Given the description of an element on the screen output the (x, y) to click on. 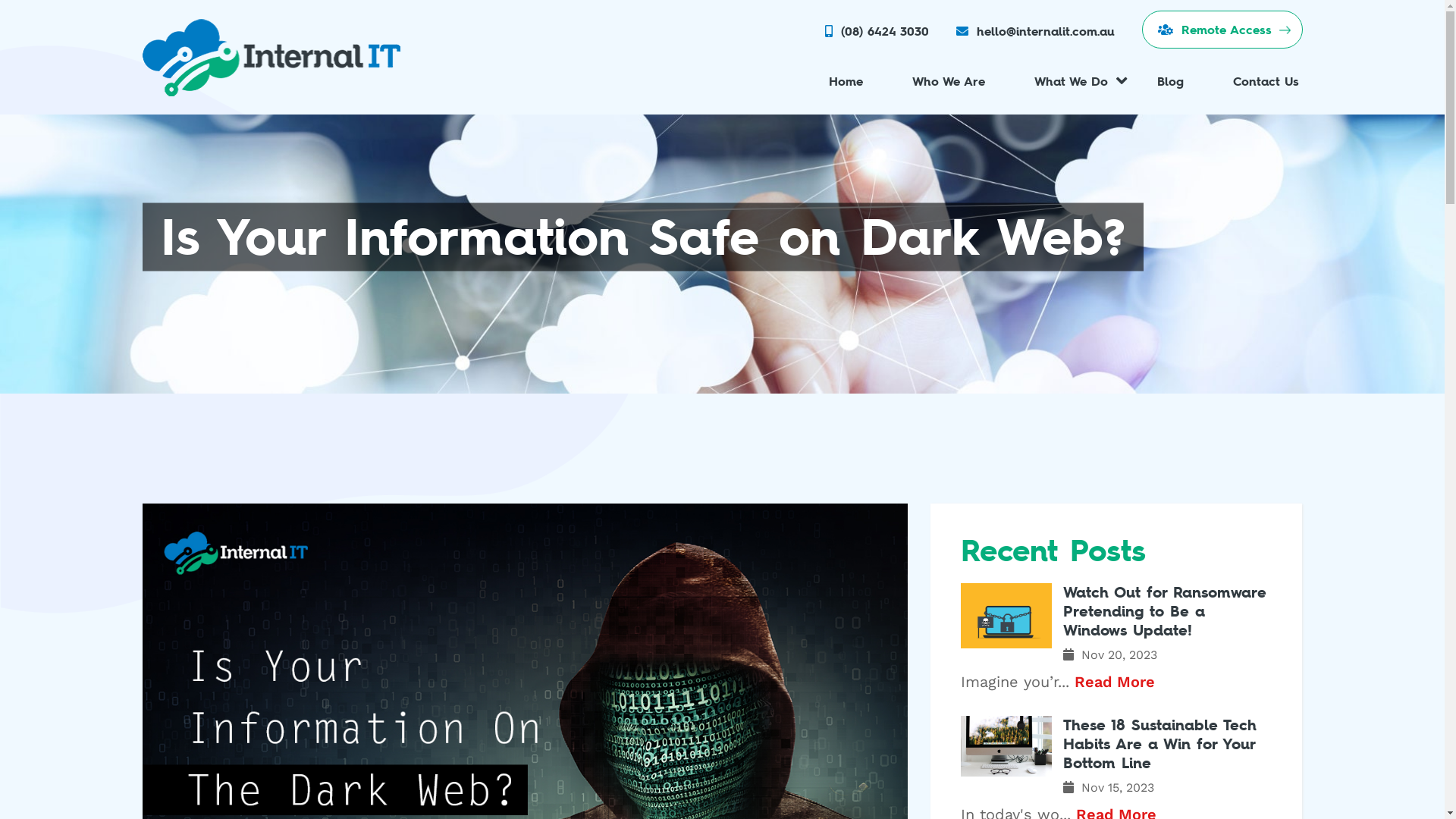
Read More Element type: text (1114, 681)
(08) 6424 3030 Element type: text (884, 30)
Who We Are Element type: text (948, 81)
hello@internalit.com.au Element type: text (1045, 30)
Remote Access Element type: text (1222, 29)
Blog Element type: text (1169, 81)
Contact Us Element type: text (1265, 81)
Watch Out for Ransomware Pretending to Be a Windows Update! Element type: text (1115, 611)
Home Element type: text (845, 81)
What We Do Element type: text (1069, 81)
